Given the description of an element on the screen output the (x, y) to click on. 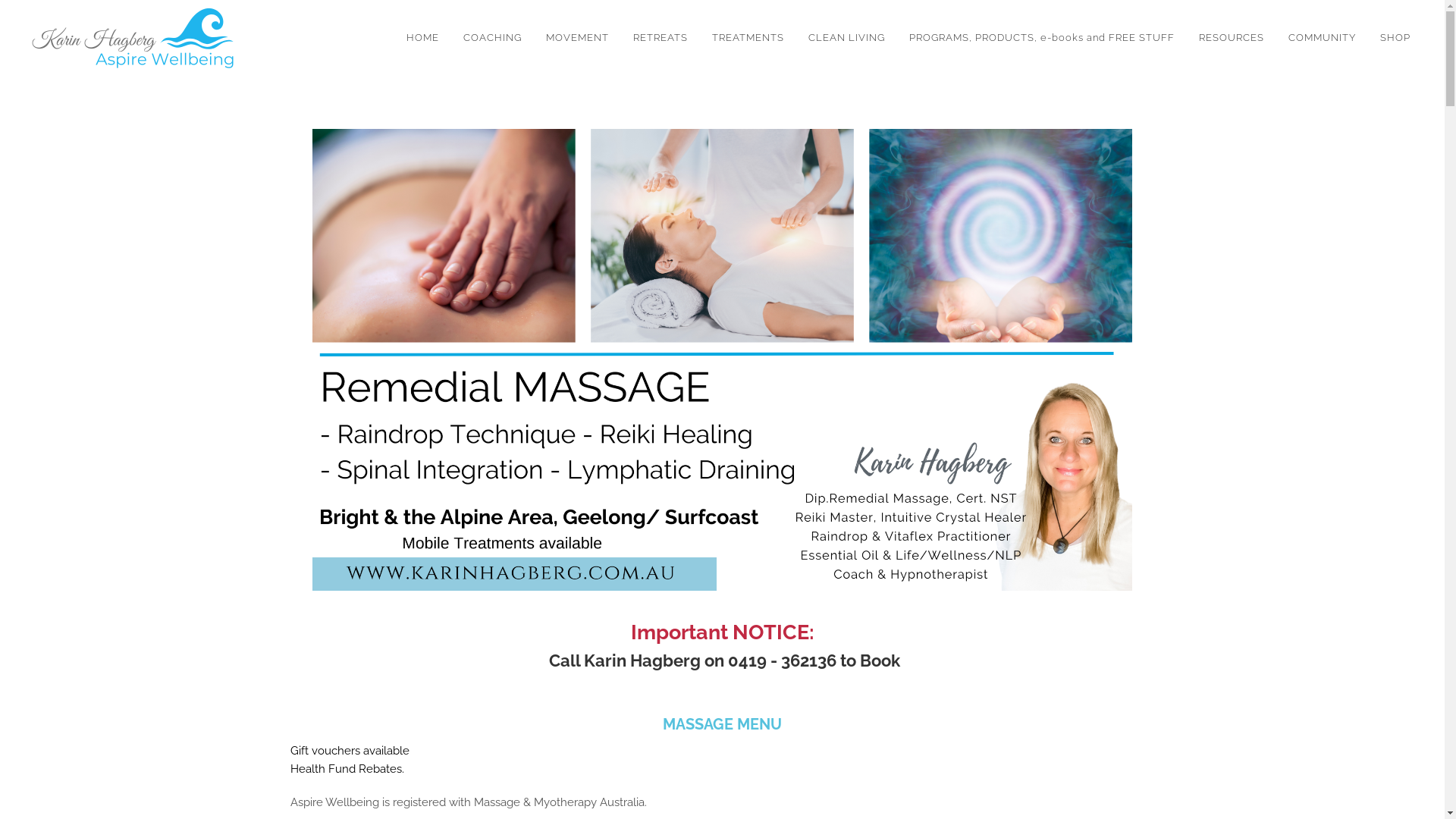
TREATMENTS Element type: text (747, 37)
SHOP Element type: text (1394, 37)
COMMUNITY Element type: text (1322, 37)
COACHING Element type: text (492, 37)
RETREATS Element type: text (660, 37)
HOME Element type: text (422, 37)
PROGRAMS, PRODUCTS, e-books and FREE STUFF Element type: text (1041, 37)
CLEAN LIVING Element type: text (846, 37)
RESOURCES Element type: text (1231, 37)
MOVEMENT Element type: text (577, 37)
